Given the description of an element on the screen output the (x, y) to click on. 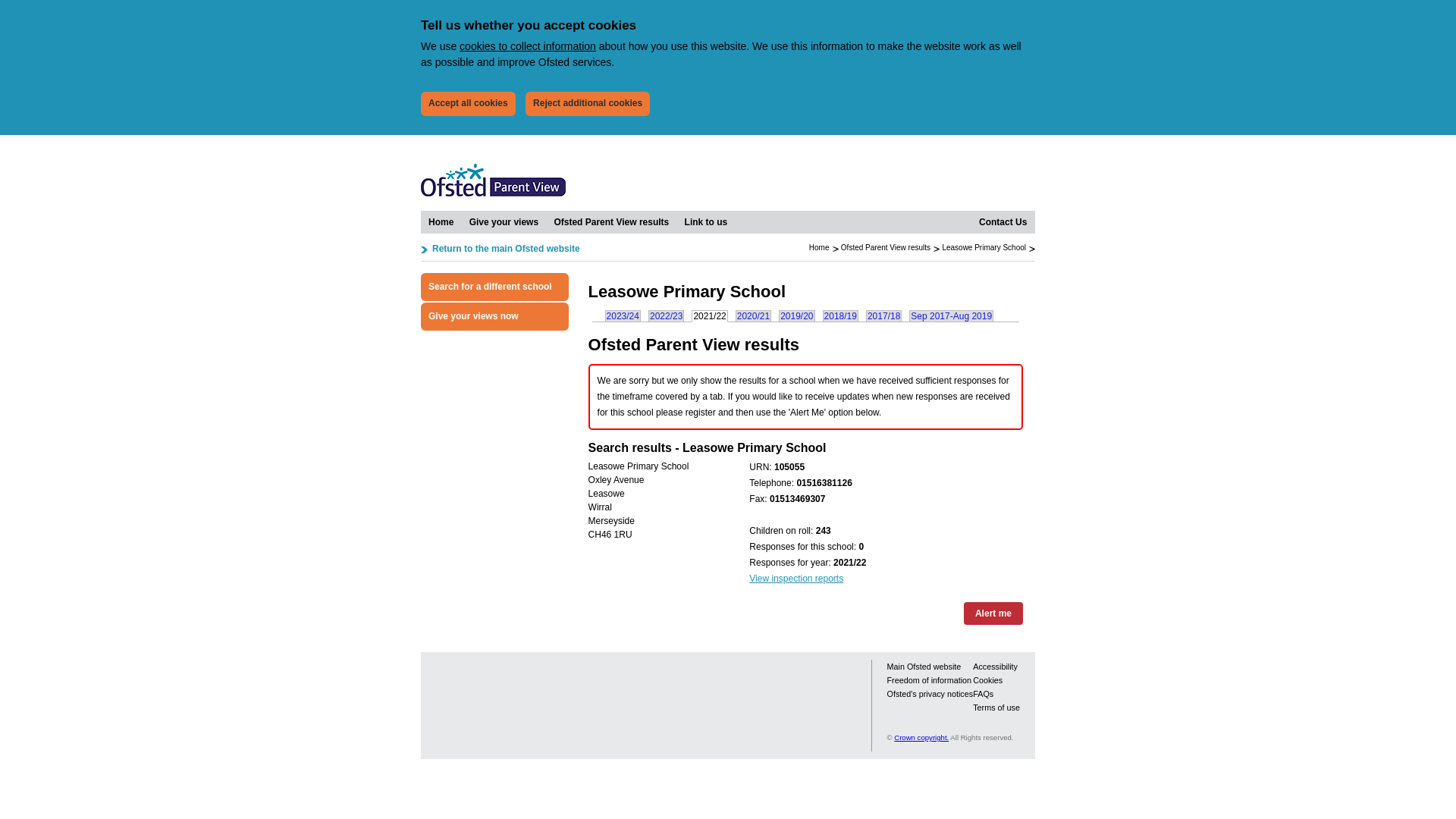
Terms of use (996, 706)
Home (819, 247)
Ofsted's privacy notices (930, 693)
Accept all cookies (467, 103)
Reject additional cookies (587, 103)
Search for a different school (494, 286)
Accessibility (994, 665)
cookies to collect information (527, 46)
Return to the main Ofsted website (499, 248)
Cookies (987, 679)
Contact Us (1002, 221)
Sep 2017-Aug 2019 (950, 315)
Give your views (503, 221)
View inspection reports (796, 578)
Ofsted Parent View results (611, 221)
